Given the description of an element on the screen output the (x, y) to click on. 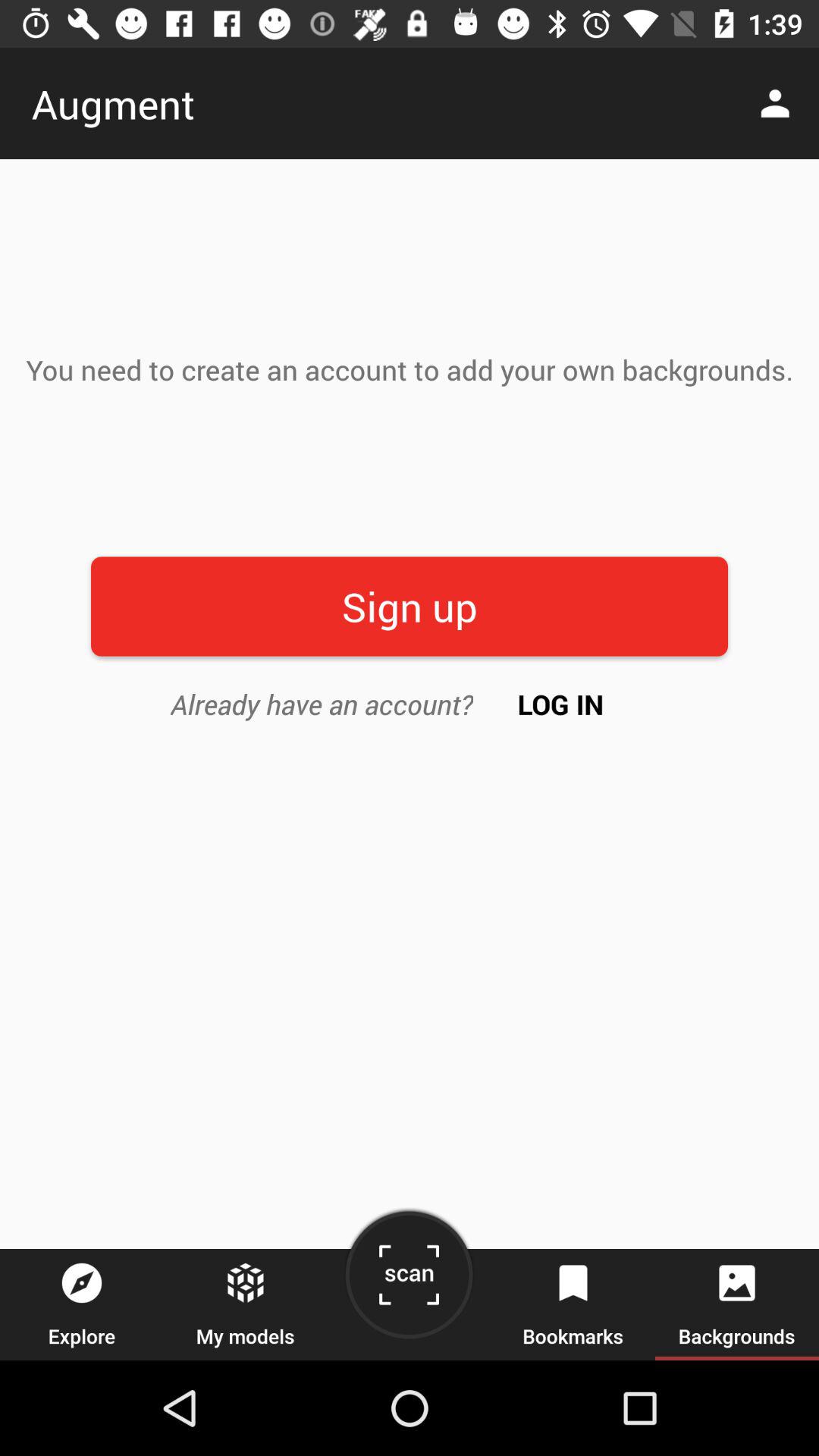
launch the icon to the left of the bookmarks (408, 1280)
